Given the description of an element on the screen output the (x, y) to click on. 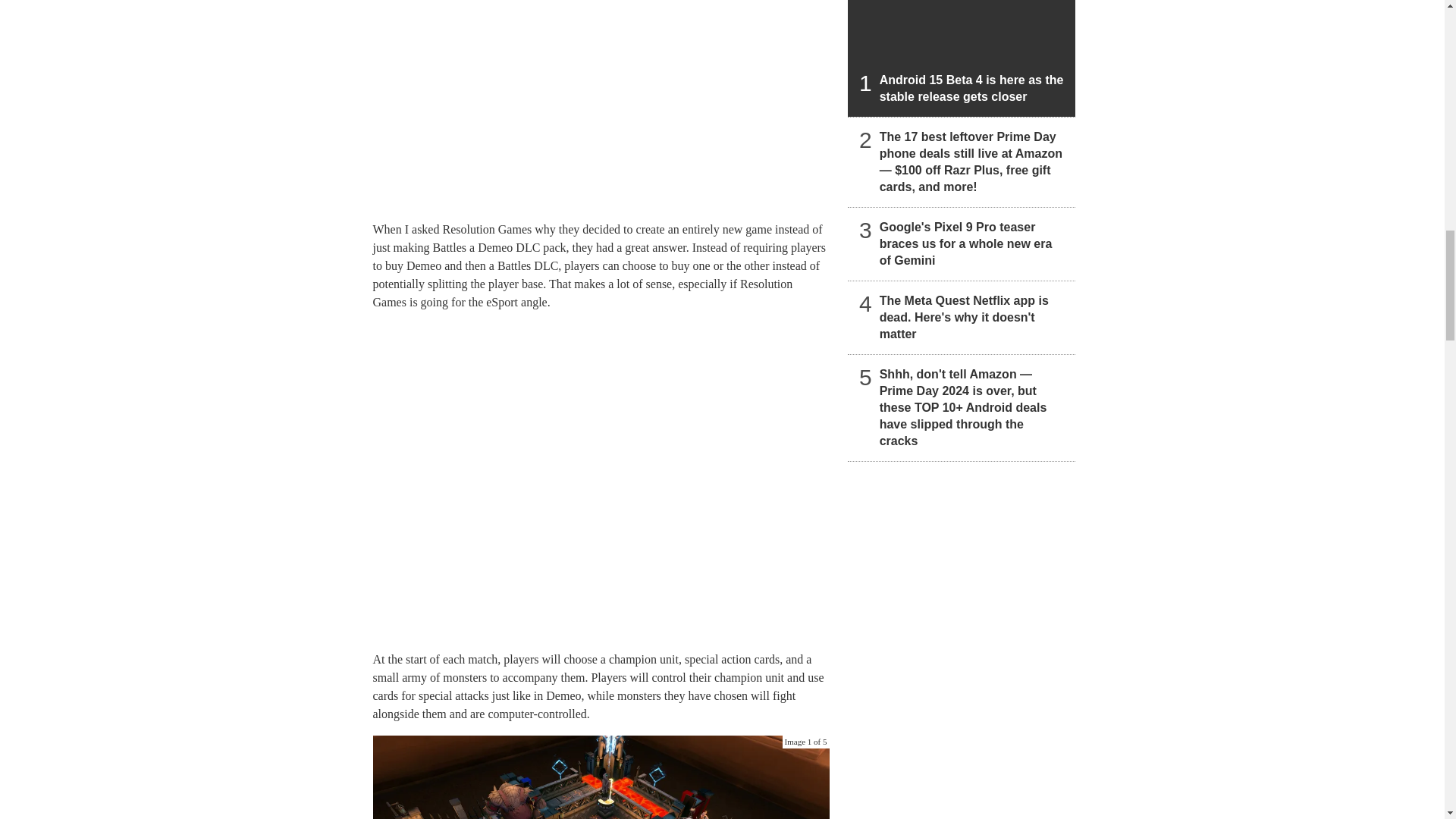
Android 15 Beta 4 is here as the stable release gets closer (961, 58)
